Given the description of an element on the screen output the (x, y) to click on. 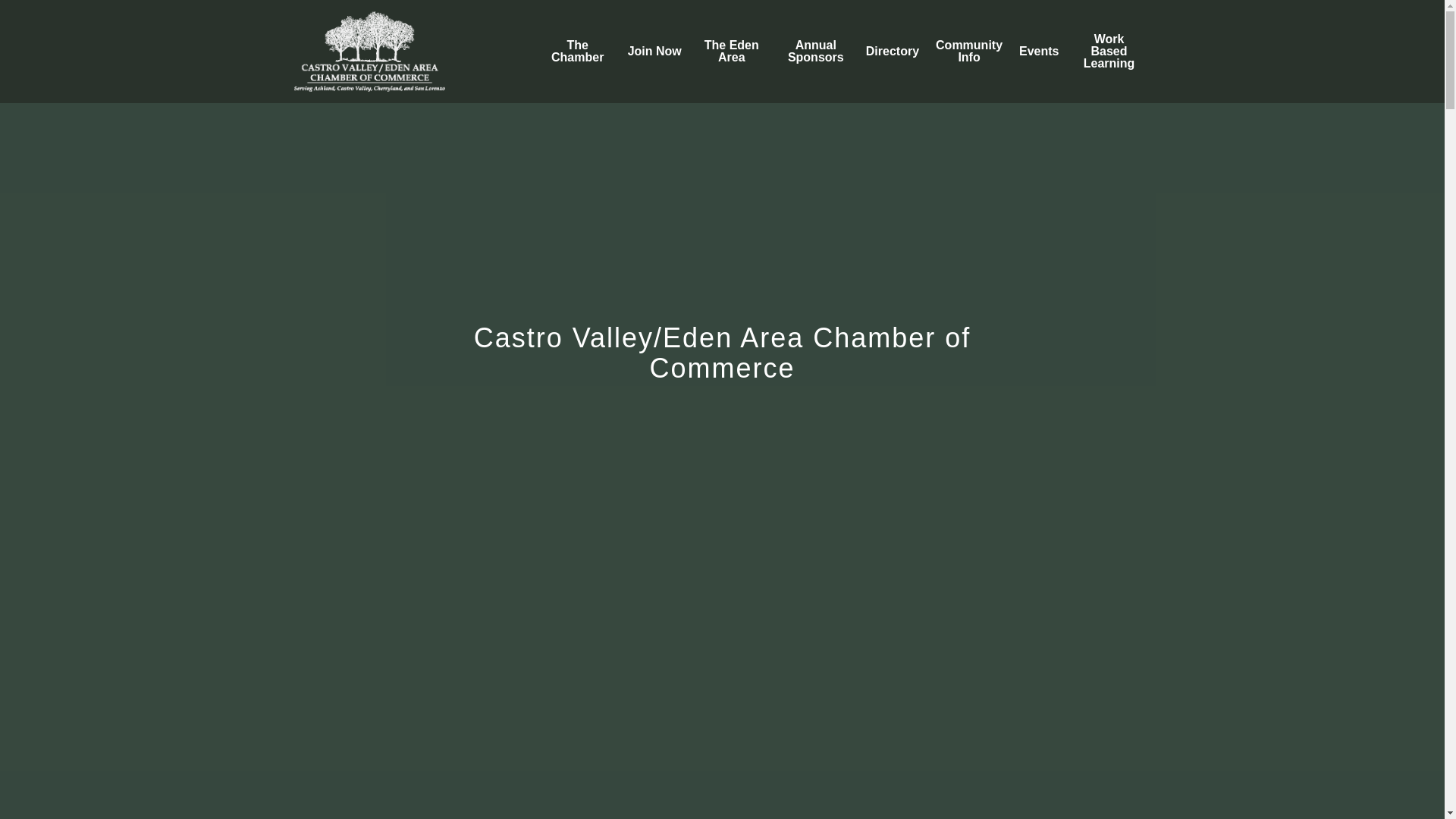
Directory (892, 51)
Events (1038, 51)
Annual Sponsors (815, 51)
Community Info (968, 51)
The Eden Area (731, 51)
Join Now (654, 51)
The Chamber (577, 51)
